Given the description of an element on the screen output the (x, y) to click on. 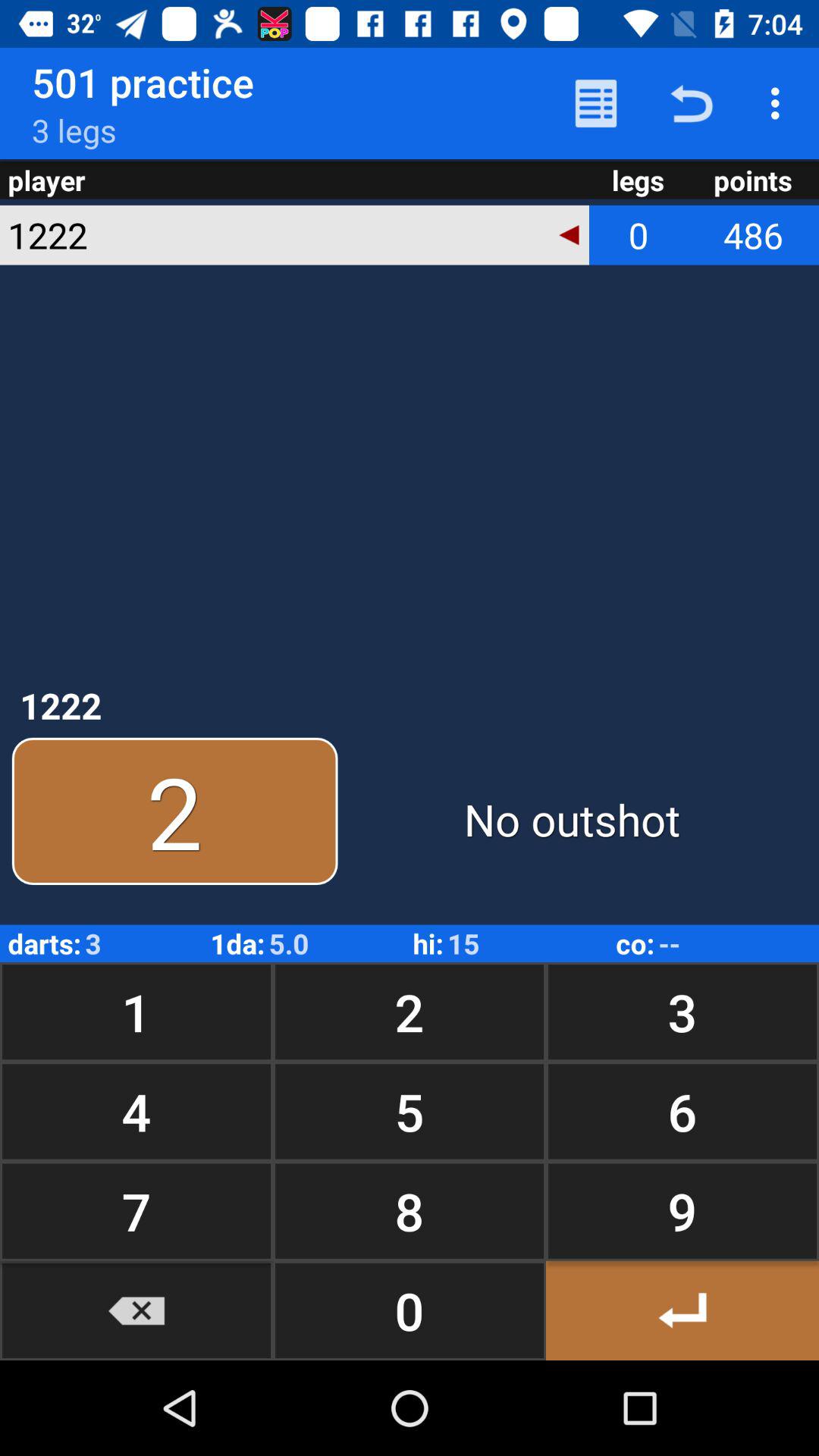
choose the app above the legs (691, 103)
